Given the description of an element on the screen output the (x, y) to click on. 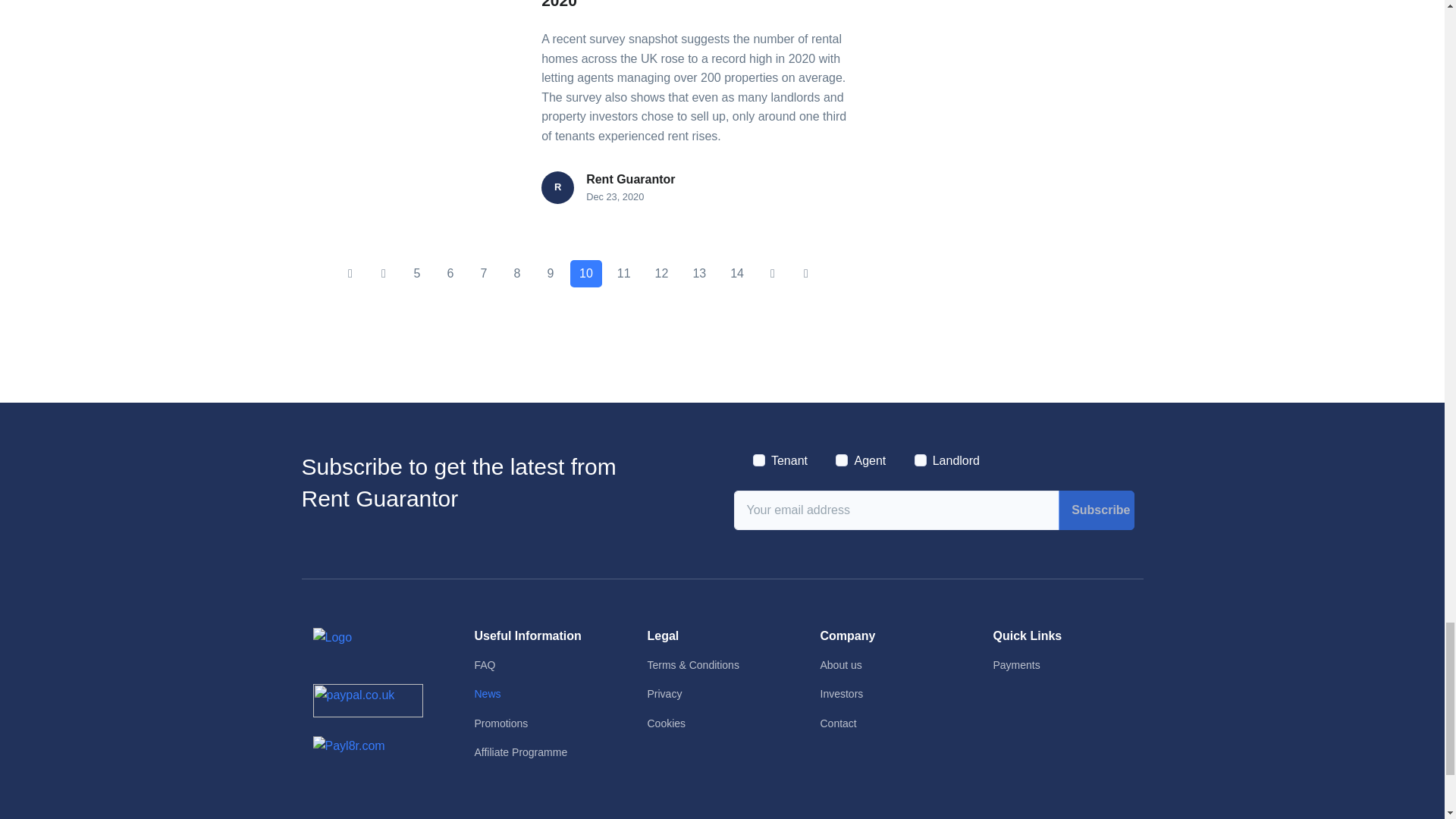
paypal.co.uk (367, 700)
Payl8r.com (348, 745)
Subscribe (1096, 509)
